Given the description of an element on the screen output the (x, y) to click on. 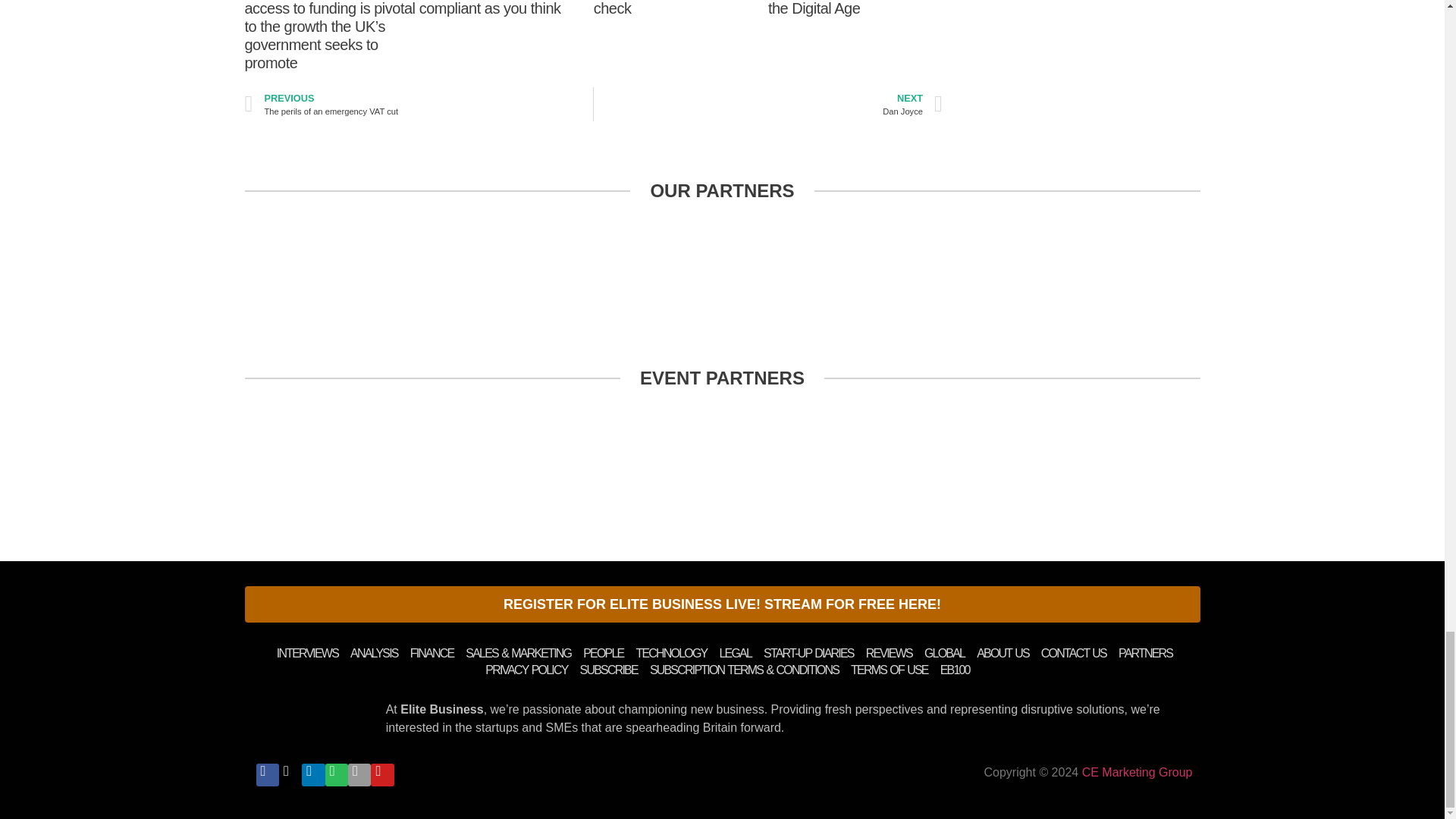
CEMG (1136, 771)
